Given the description of an element on the screen output the (x, y) to click on. 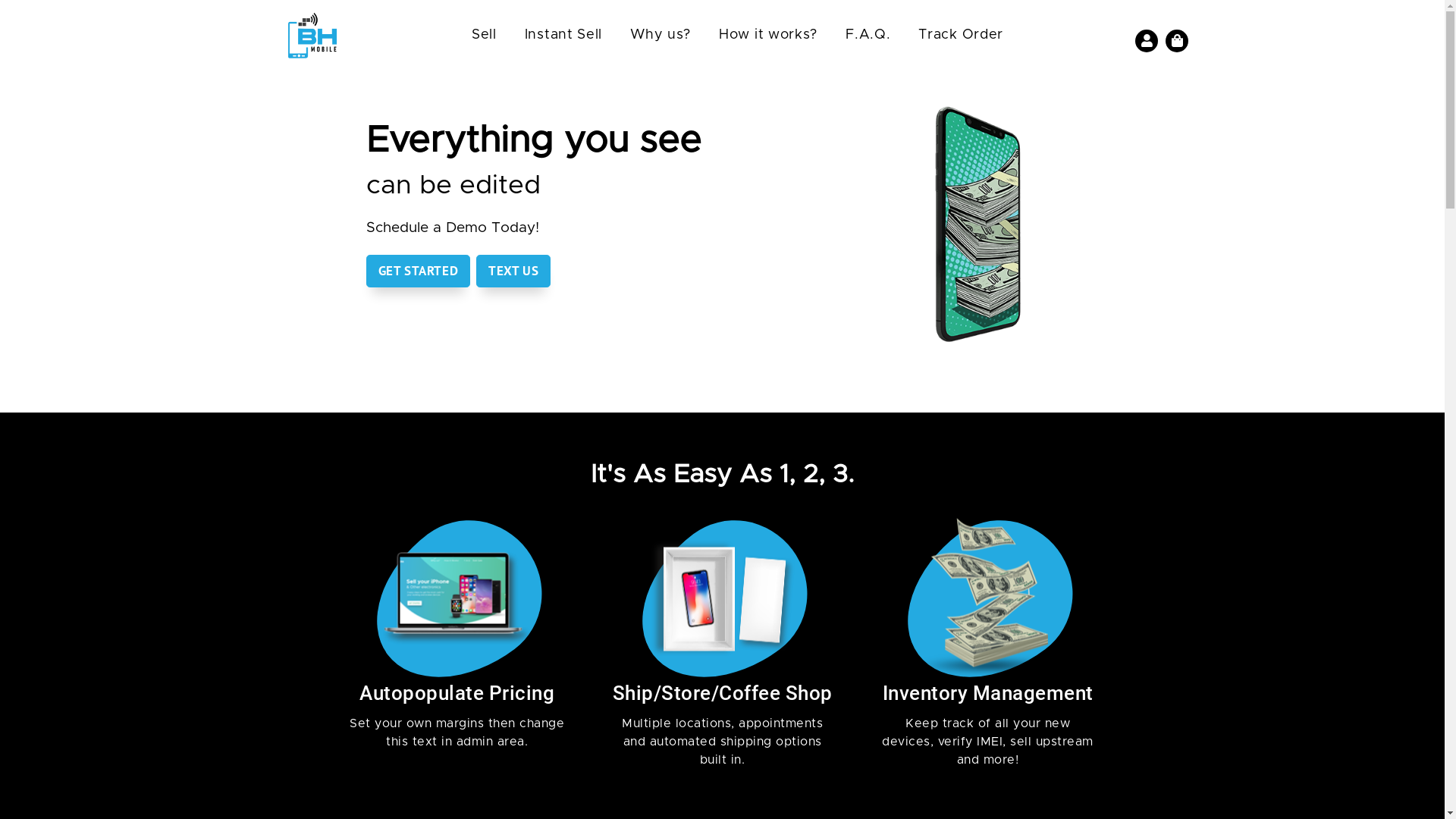
Why us? Element type: text (660, 35)
Track Order Element type: text (960, 35)
F.A.Q. Element type: text (867, 35)
Instant Sell Element type: text (563, 35)
Sell Element type: text (483, 35)
GET STARTED Element type: text (417, 271)
TEXT US Element type: text (513, 271)
How it works? Element type: text (767, 35)
